Given the description of an element on the screen output the (x, y) to click on. 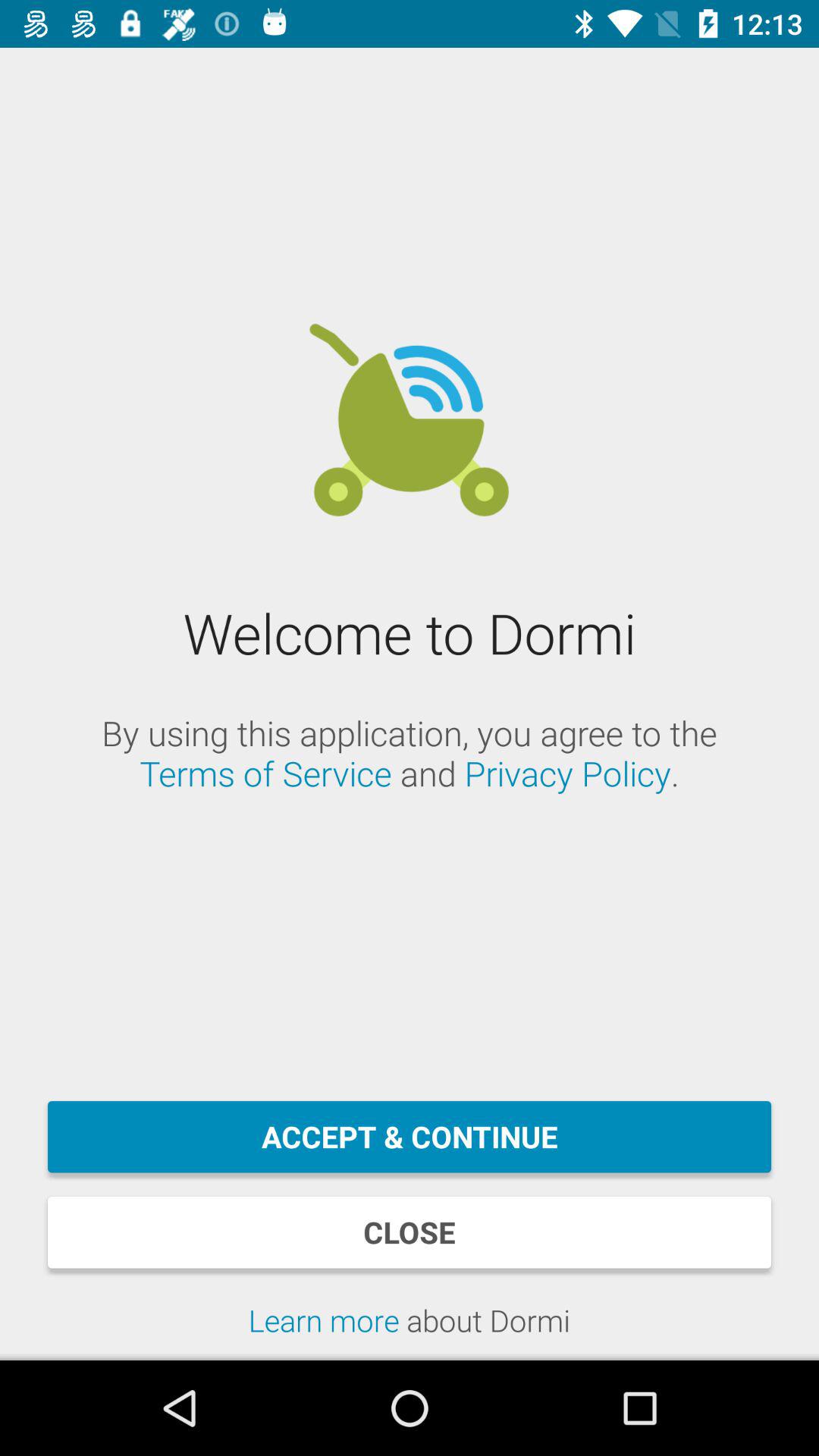
select item above the close icon (409, 1136)
